Given the description of an element on the screen output the (x, y) to click on. 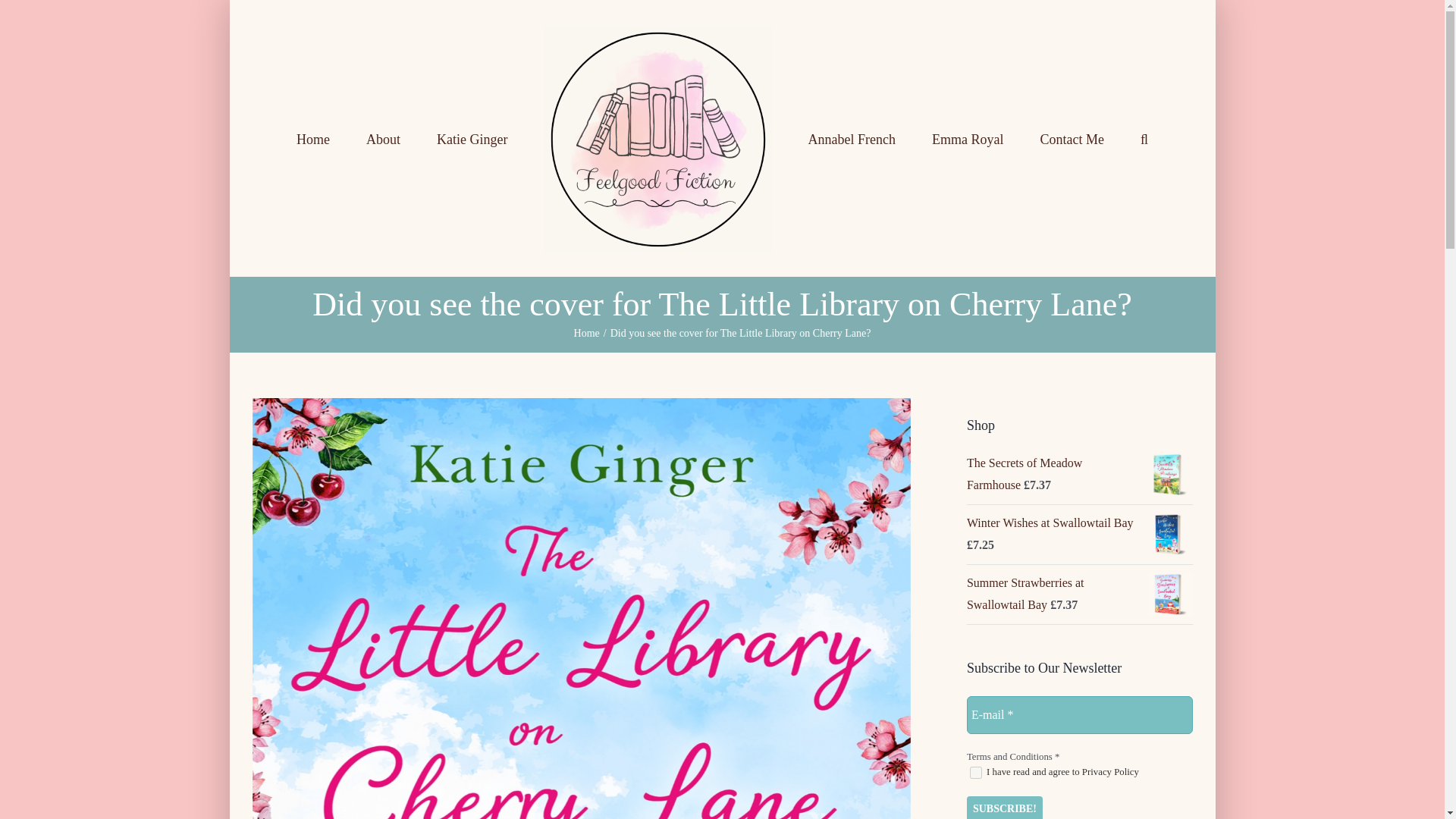
Emma Royal (967, 137)
Katie Ginger (471, 137)
Subscribe! (1004, 807)
Summer Strawberries at Swallowtail Bay (1025, 593)
Home (586, 333)
E-mail (1079, 714)
1 (975, 772)
Contact Me (1071, 137)
The Secrets of Meadow Farmhouse (1023, 473)
